Given the description of an element on the screen output the (x, y) to click on. 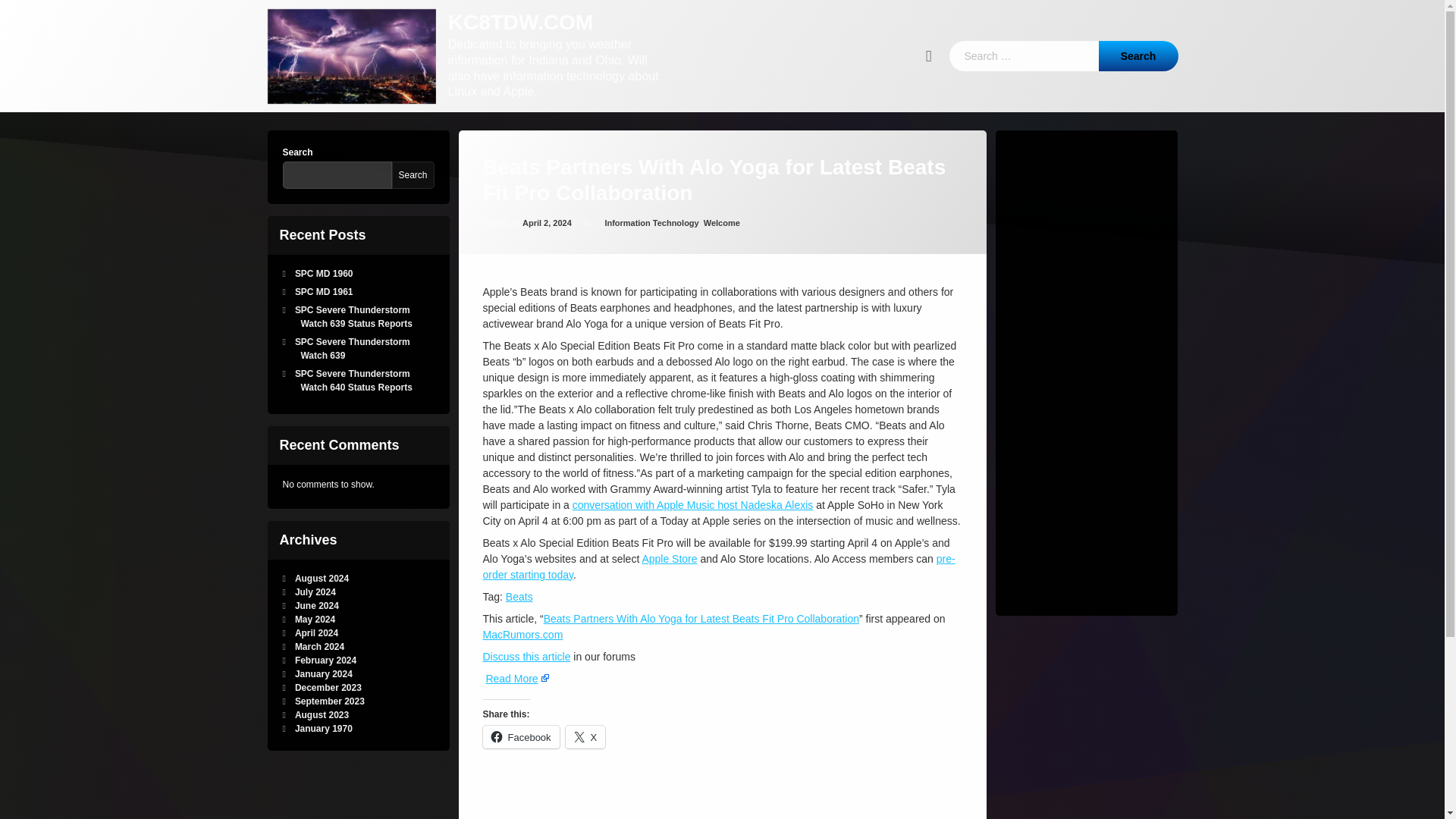
June 2024 (315, 605)
SPC Severe Thunderstorm Watch 639 (348, 348)
Read More (516, 590)
Beats (518, 445)
SPC Severe Thunderstorm Watch 640 Status Reports (351, 380)
Search (1273, 4)
SPC MD 1960 (316, 273)
May 2024 (314, 619)
pre-order starting today (718, 389)
